Given the description of an element on the screen output the (x, y) to click on. 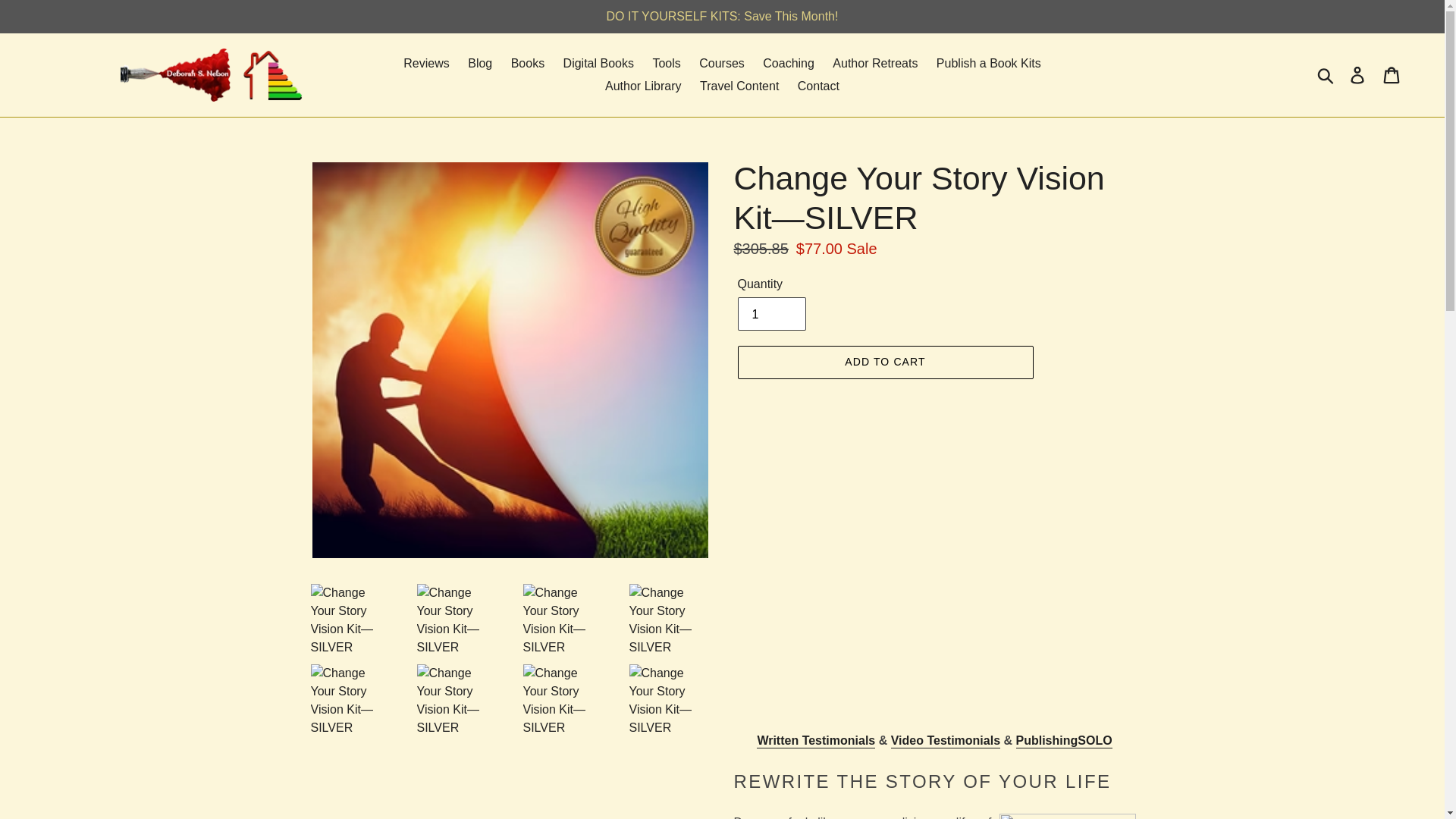
Digital Books (599, 63)
Courses (721, 63)
Author Library (642, 86)
Cart (1392, 74)
Author Retreats (874, 63)
Reviews (426, 63)
Blog (479, 63)
Submit (1326, 74)
Books (527, 63)
Log in (1357, 74)
